Given the description of an element on the screen output the (x, y) to click on. 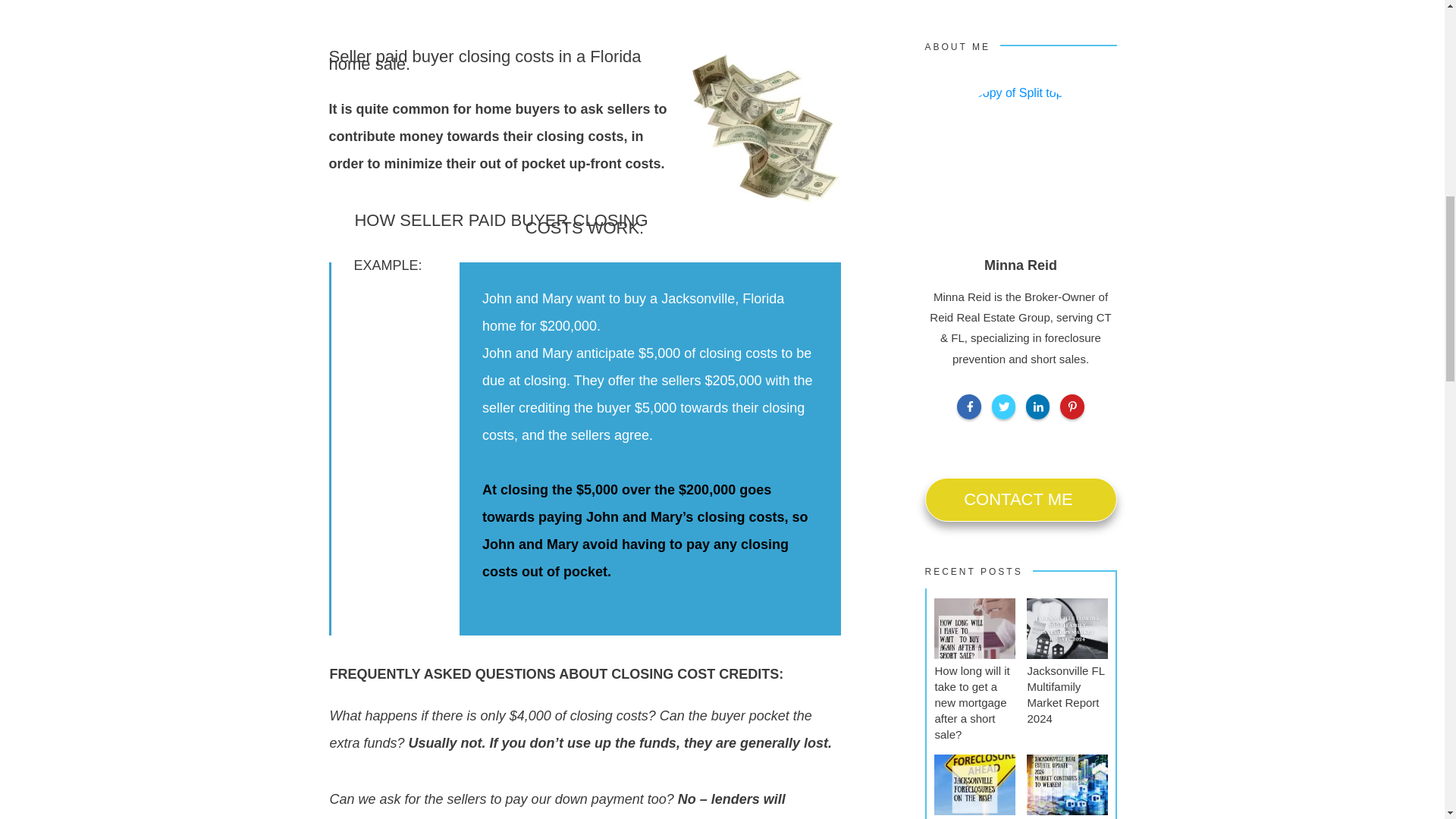
Copy of Split top 02 (1020, 159)
Jacksonville FL Multifamily Market Report 2024 (1065, 694)
Minna Reid (1020, 265)
CONTACT ME  (1020, 499)
seller paid closing costs (764, 128)
